Given the description of an element on the screen output the (x, y) to click on. 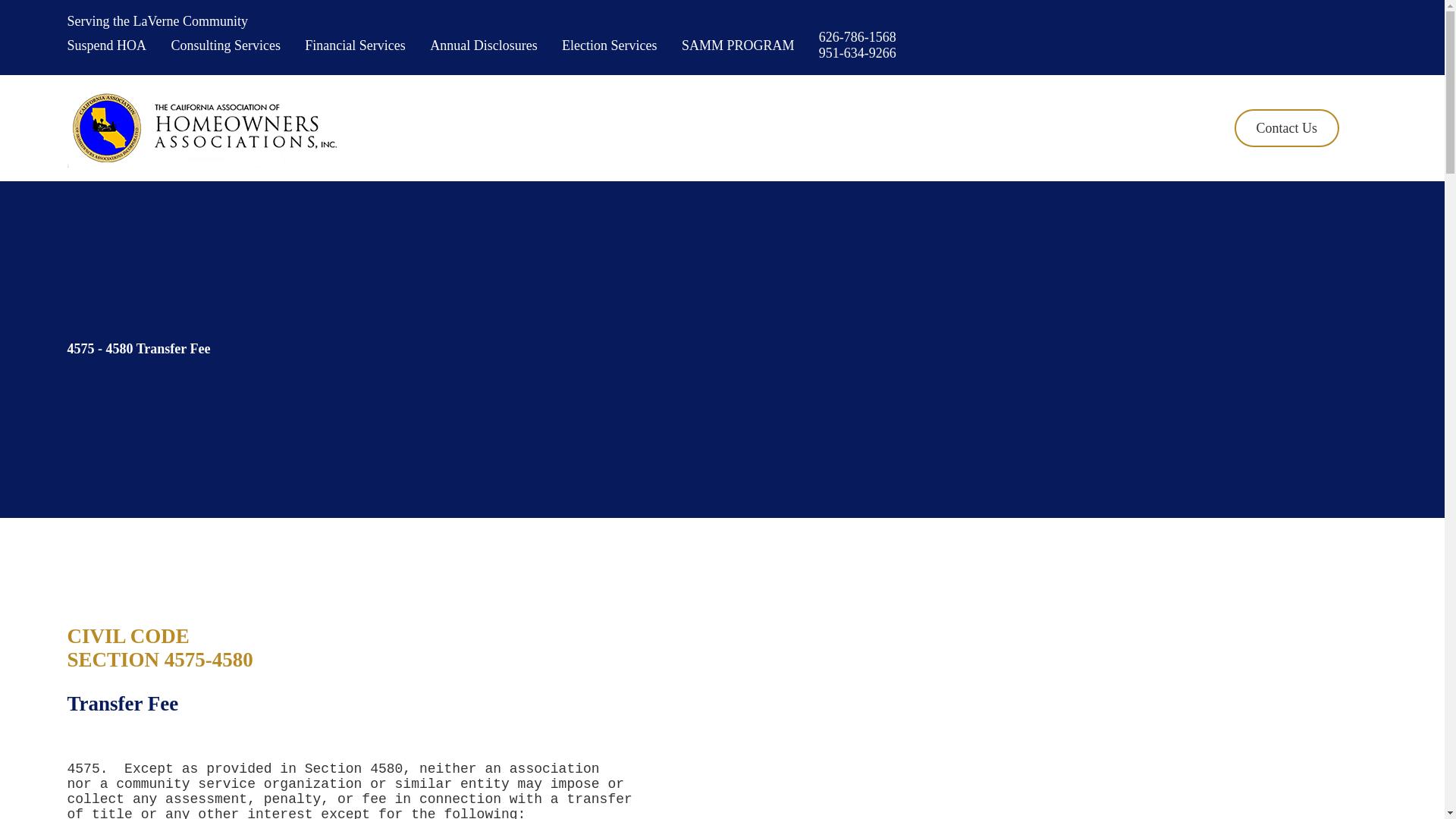
Election Services (609, 45)
Annual Disclosures (483, 45)
Home (202, 127)
626-786-1568 (857, 37)
Financial Services (354, 45)
Consulting Services (225, 45)
951-634-9266 (857, 53)
Suspend HOA (106, 45)
SAMM PROGRAM (737, 45)
